Given the description of an element on the screen output the (x, y) to click on. 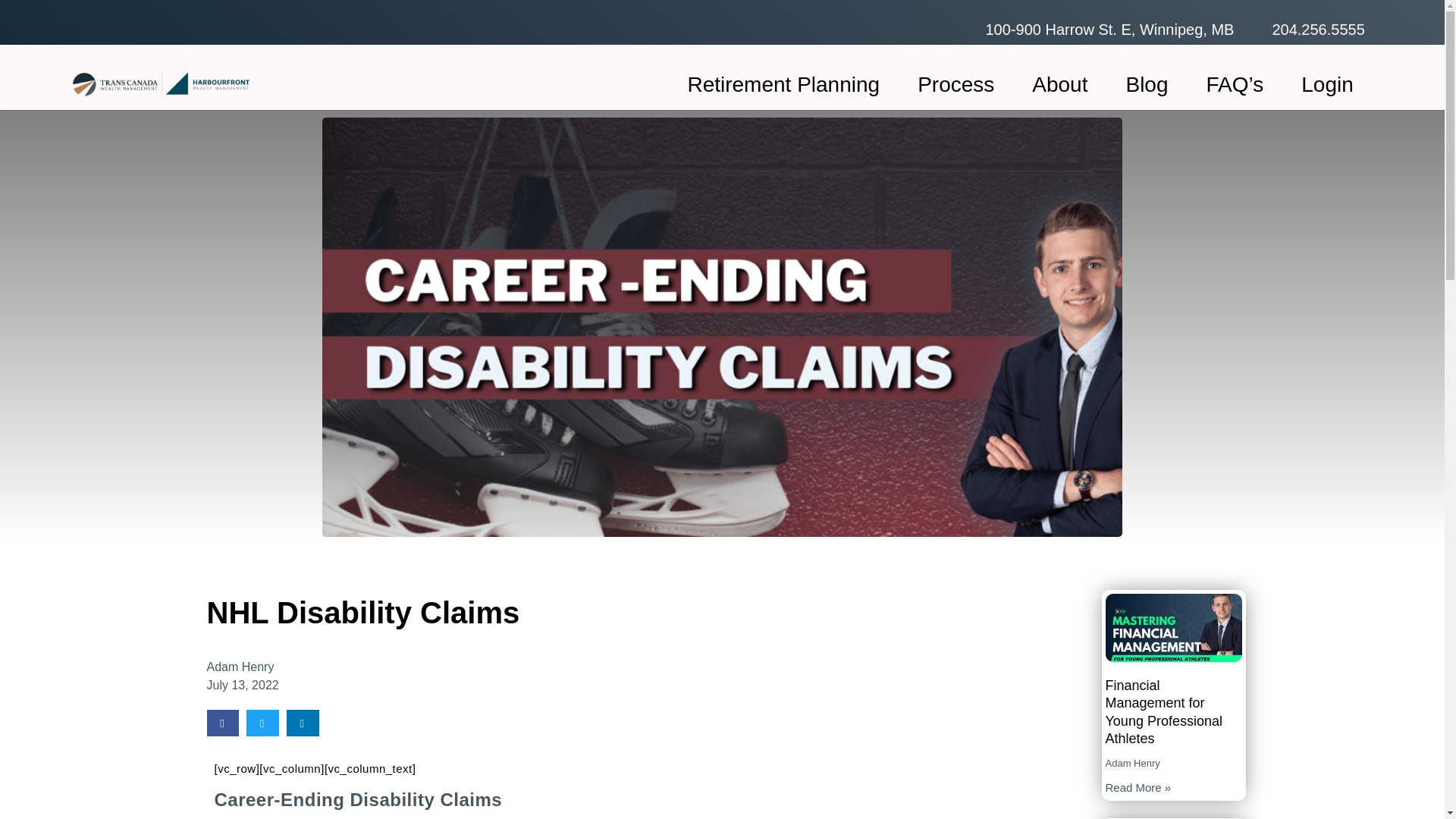
204.256.5555 (1317, 29)
Blog (1146, 84)
Login (1327, 84)
Process (955, 84)
100-900 Harrow St. E, Winnipeg, MB (1109, 29)
About (1059, 84)
Retirement Planning (783, 84)
Adam Henry (239, 667)
Financial Management for Young Professional Athletes (1164, 712)
